Given the description of an element on the screen output the (x, y) to click on. 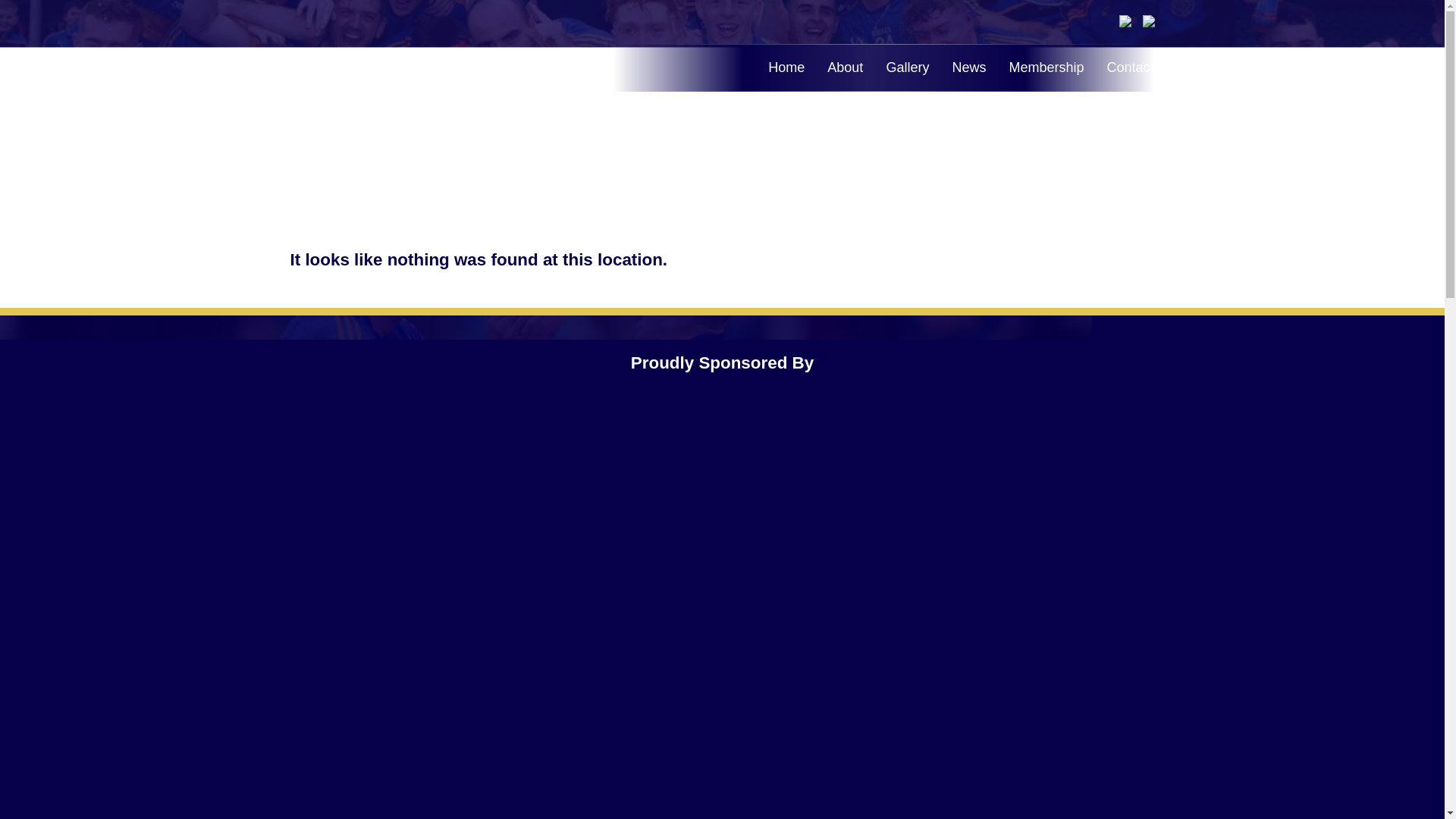
Membership (1046, 67)
About (845, 67)
Patrickswell GAA Club (423, 73)
Gallery (906, 67)
Home (786, 67)
Contact (1129, 67)
News (968, 67)
